Given the description of an element on the screen output the (x, y) to click on. 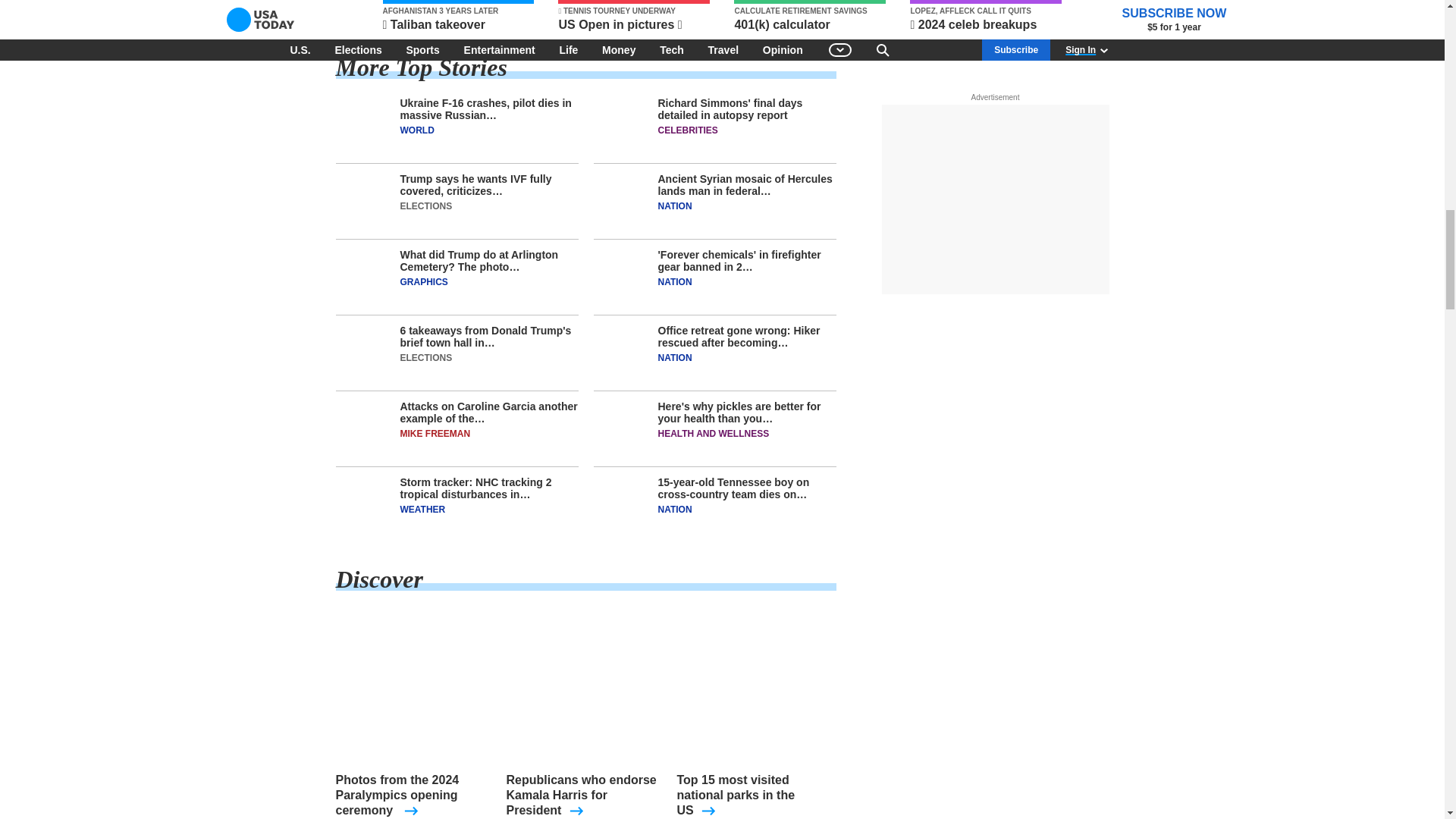
6 takeaways from Donald Trump's brief town hall in Wisconsin (456, 357)
'Forever chemicals' in firefighter gear banned in 2 states (713, 281)
Ukraine F-16 crashes, pilot dies in massive Russian attack (456, 130)
